Given the description of an element on the screen output the (x, y) to click on. 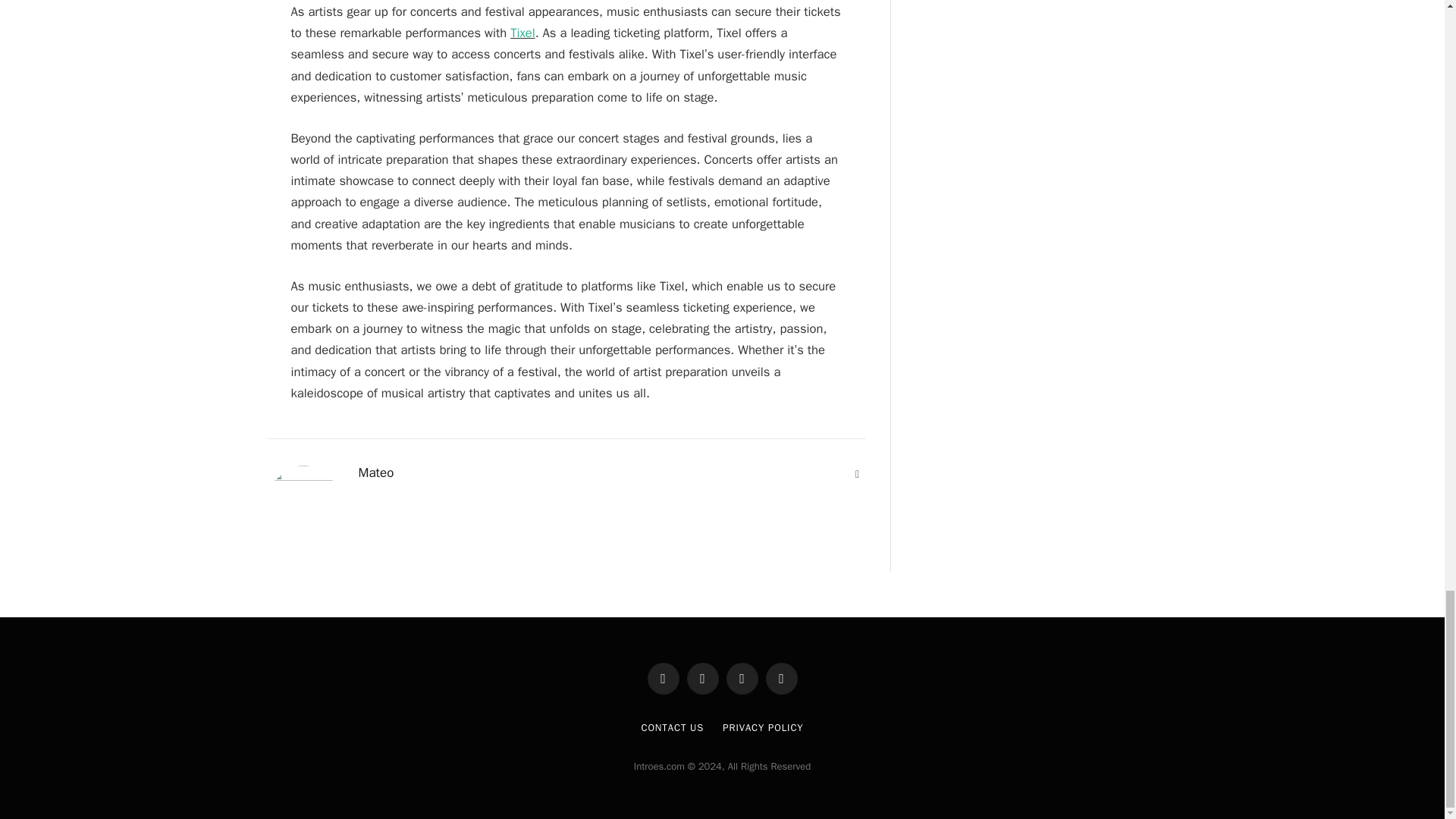
Posts by Mateo (375, 473)
Website (856, 474)
Mateo (375, 473)
Tixel (522, 32)
Website (856, 474)
